Given the description of an element on the screen output the (x, y) to click on. 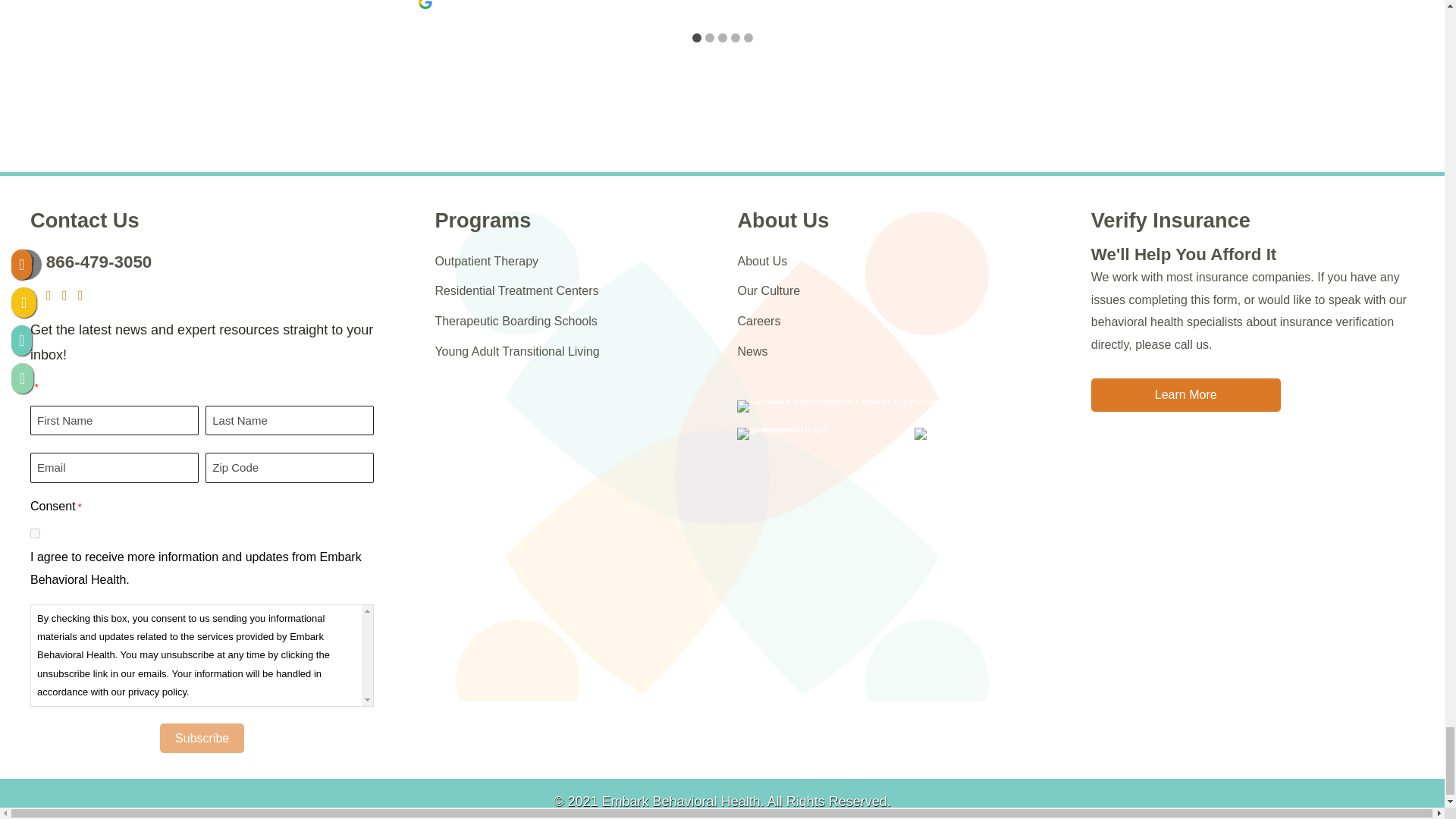
1 (35, 533)
About Us (782, 219)
Subscribe (202, 737)
Programs (482, 219)
